Given the description of an element on the screen output the (x, y) to click on. 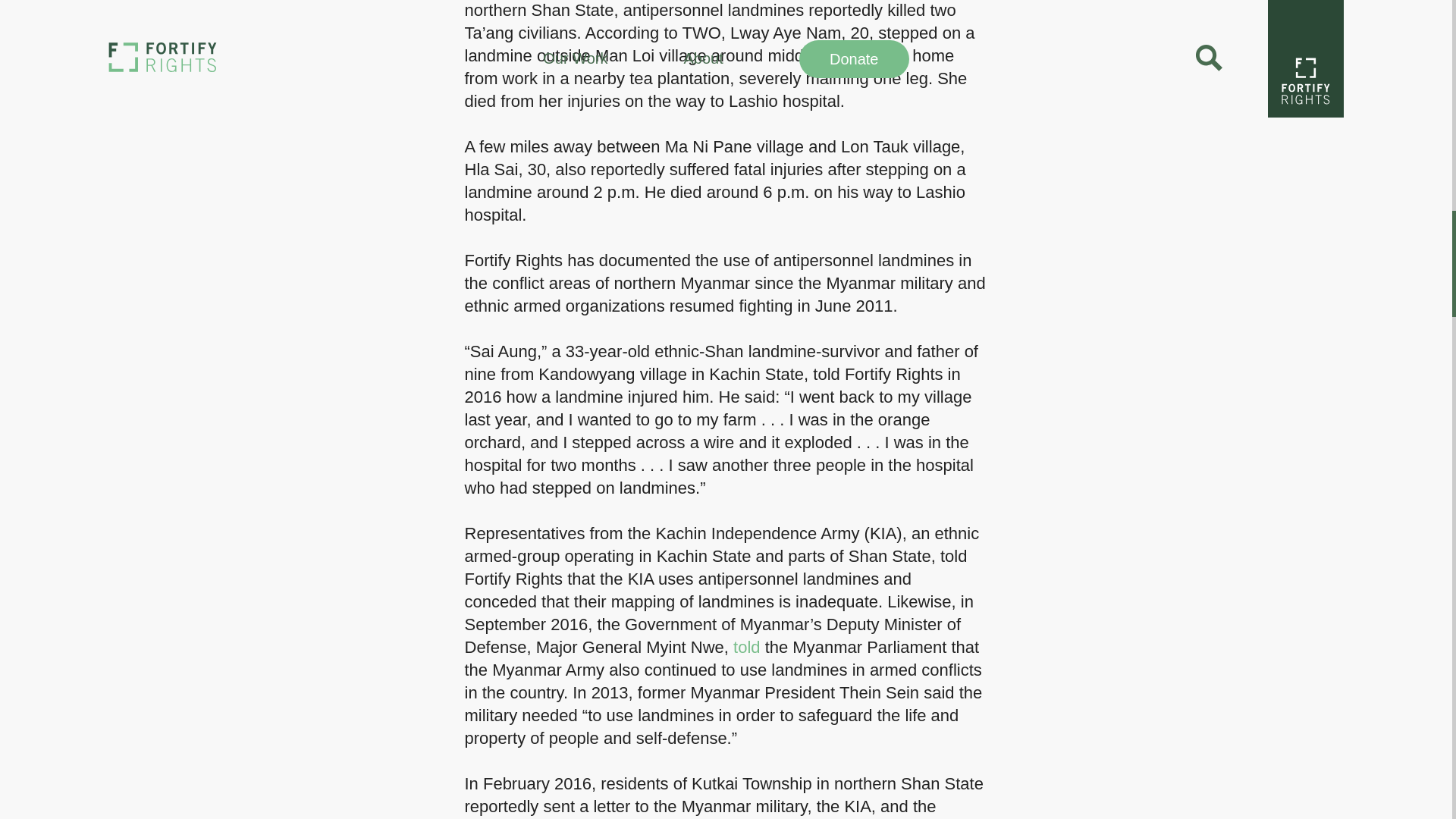
told (746, 647)
